Given the description of an element on the screen output the (x, y) to click on. 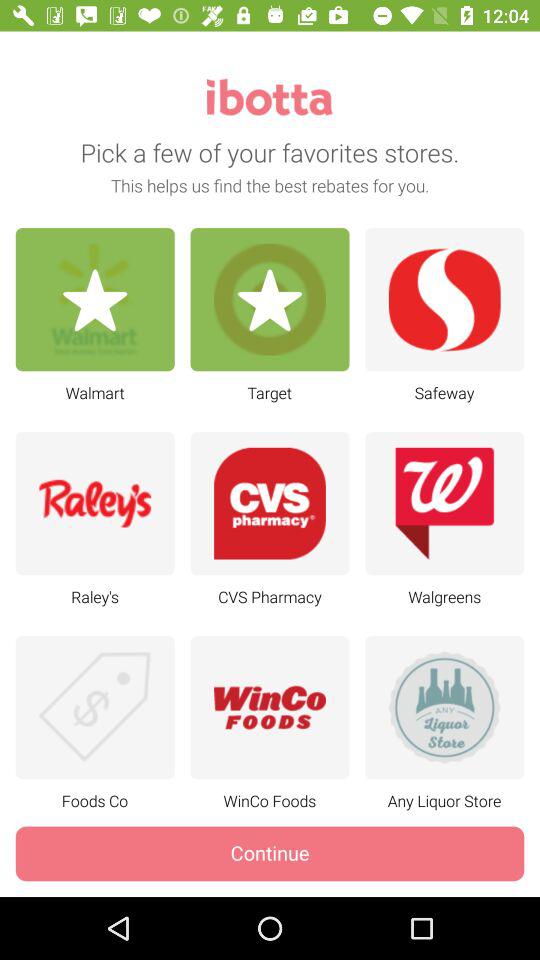
tap continue item (269, 853)
